Given the description of an element on the screen output the (x, y) to click on. 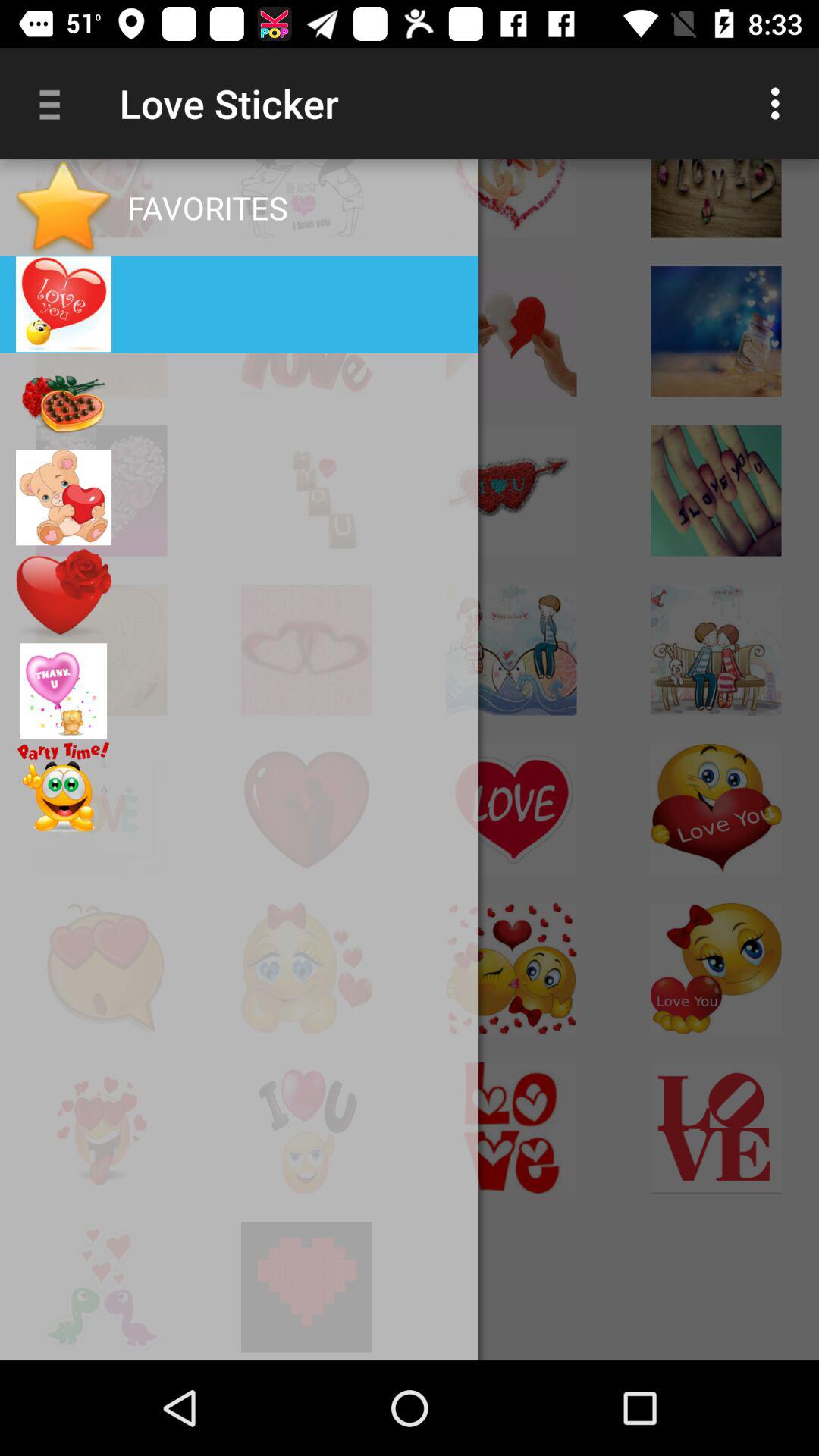
click on teddy bare image (63, 496)
click on the image above party time (63, 690)
select the image which is above the i love you image (715, 330)
click on the third image from the first right (306, 199)
select the third image from the last second row (511, 1127)
click on the image which is third row and column (511, 491)
click on love (306, 330)
